Given the description of an element on the screen output the (x, y) to click on. 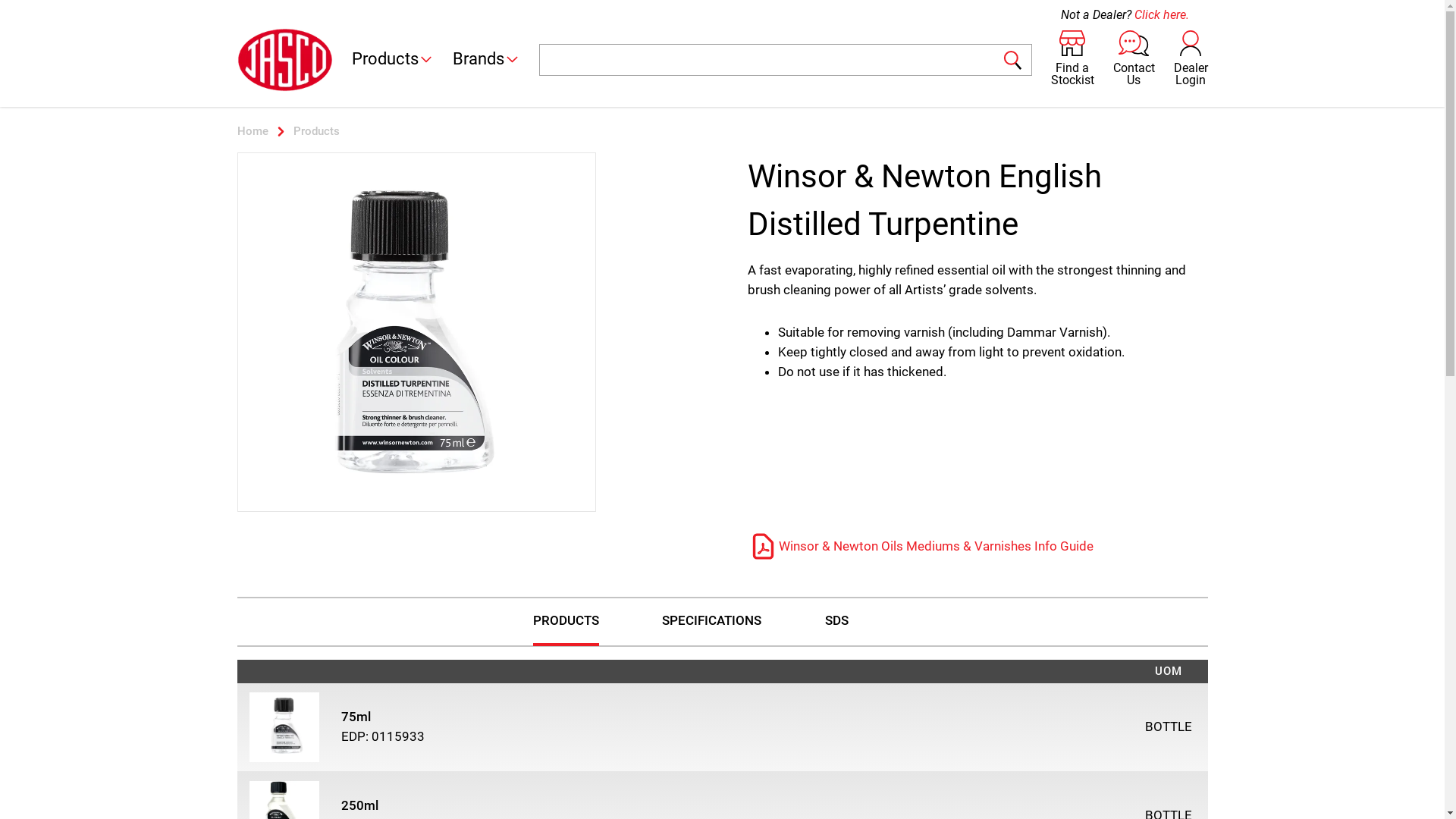
Find a
Stockist Element type: text (1072, 59)
SPECIFICATIONS Element type: text (711, 622)
PRODUCTS Element type: text (566, 622)
Contact
Us Element type: text (1133, 59)
Jasco Element type: text (284, 59)
Click here. Element type: text (1161, 14)
Winsor & Newton Oils Mediums & Varnishes Info Guide Element type: text (920, 546)
Dealer
Login Element type: text (1190, 59)
Brands Element type: text (486, 60)
Products Element type: text (316, 130)
Home Element type: text (251, 130)
SDS Element type: text (836, 622)
Products Element type: text (392, 60)
